Given the description of an element on the screen output the (x, y) to click on. 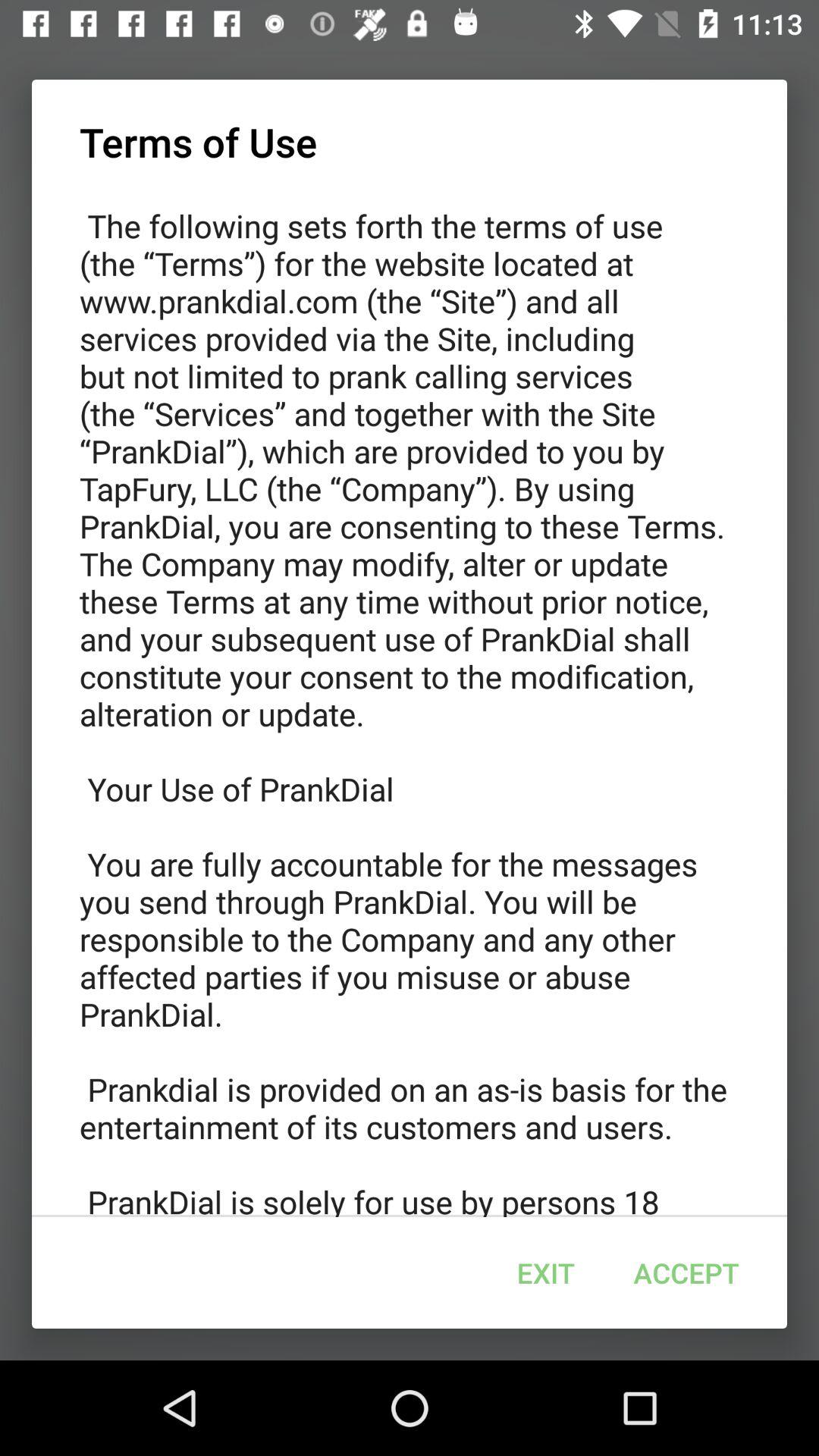
launch the exit item (545, 1272)
